Given the description of an element on the screen output the (x, y) to click on. 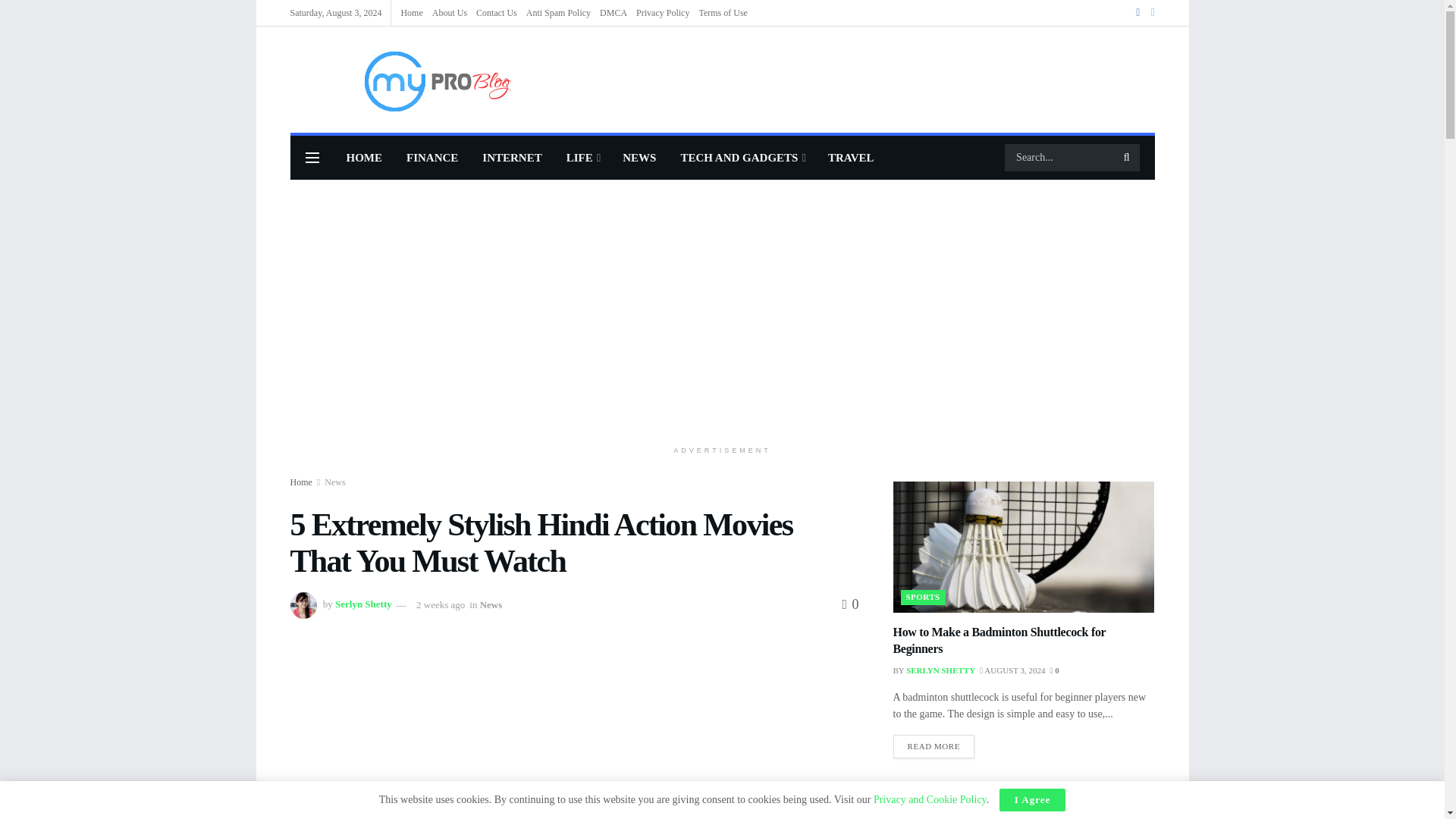
Advertisement (574, 730)
Terms of Use (722, 12)
Anti Spam Policy (558, 12)
FINANCE (432, 157)
TRAVEL (850, 157)
About Us (449, 12)
NEWS (639, 157)
TECH AND GADGETS (741, 157)
Contact Us (496, 12)
INTERNET (511, 157)
DMCA (613, 12)
LIFE (582, 157)
HOME (363, 157)
Privacy Policy (662, 12)
